Given the description of an element on the screen output the (x, y) to click on. 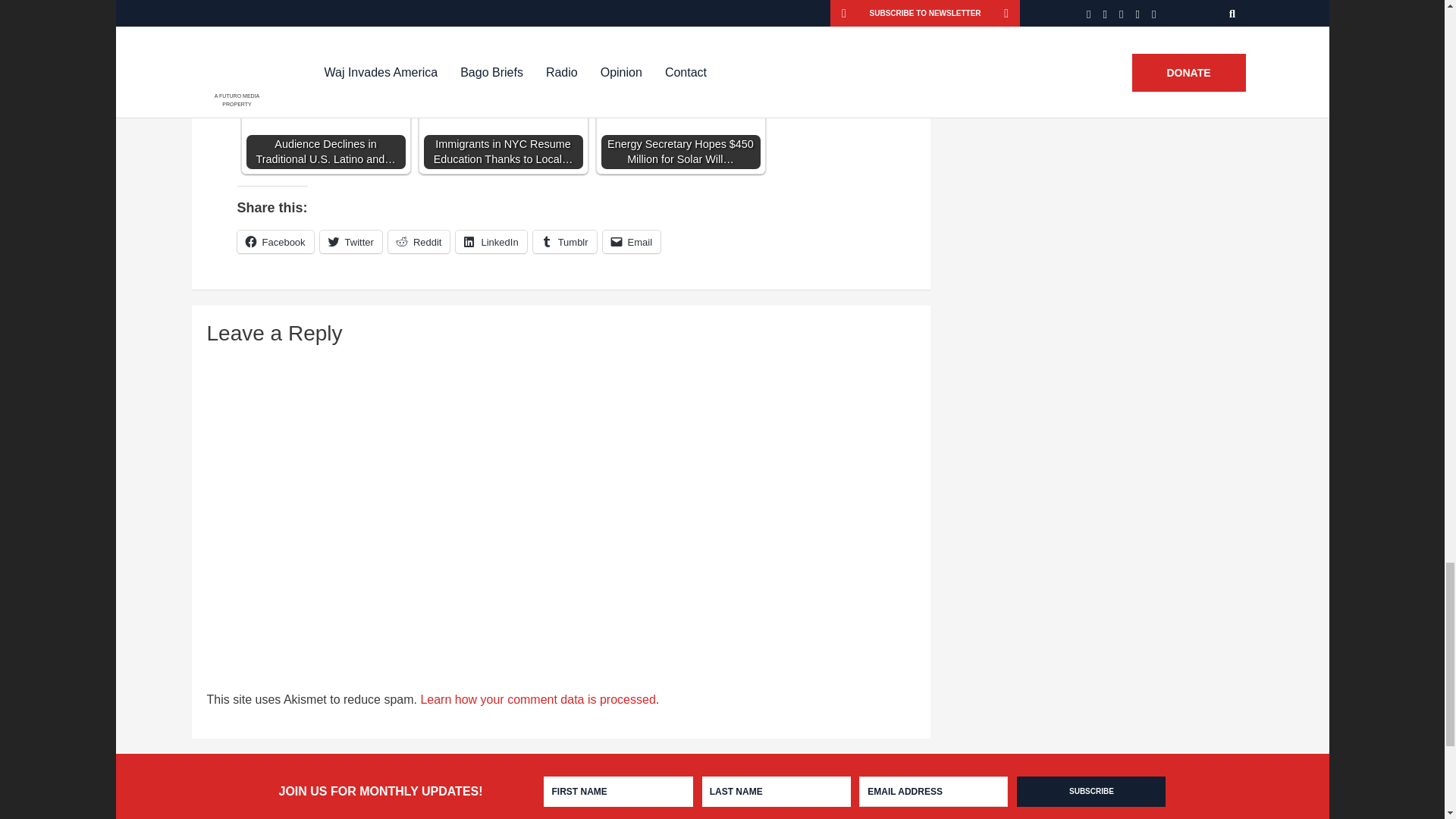
Subscribe (1091, 791)
Click to share on LinkedIn (490, 241)
Click to share on Twitter (350, 241)
Click to email a link to a friend (631, 241)
Click to share on Facebook (274, 241)
Click to share on Reddit (418, 241)
Click to share on Tumblr (564, 241)
